Given the description of an element on the screen output the (x, y) to click on. 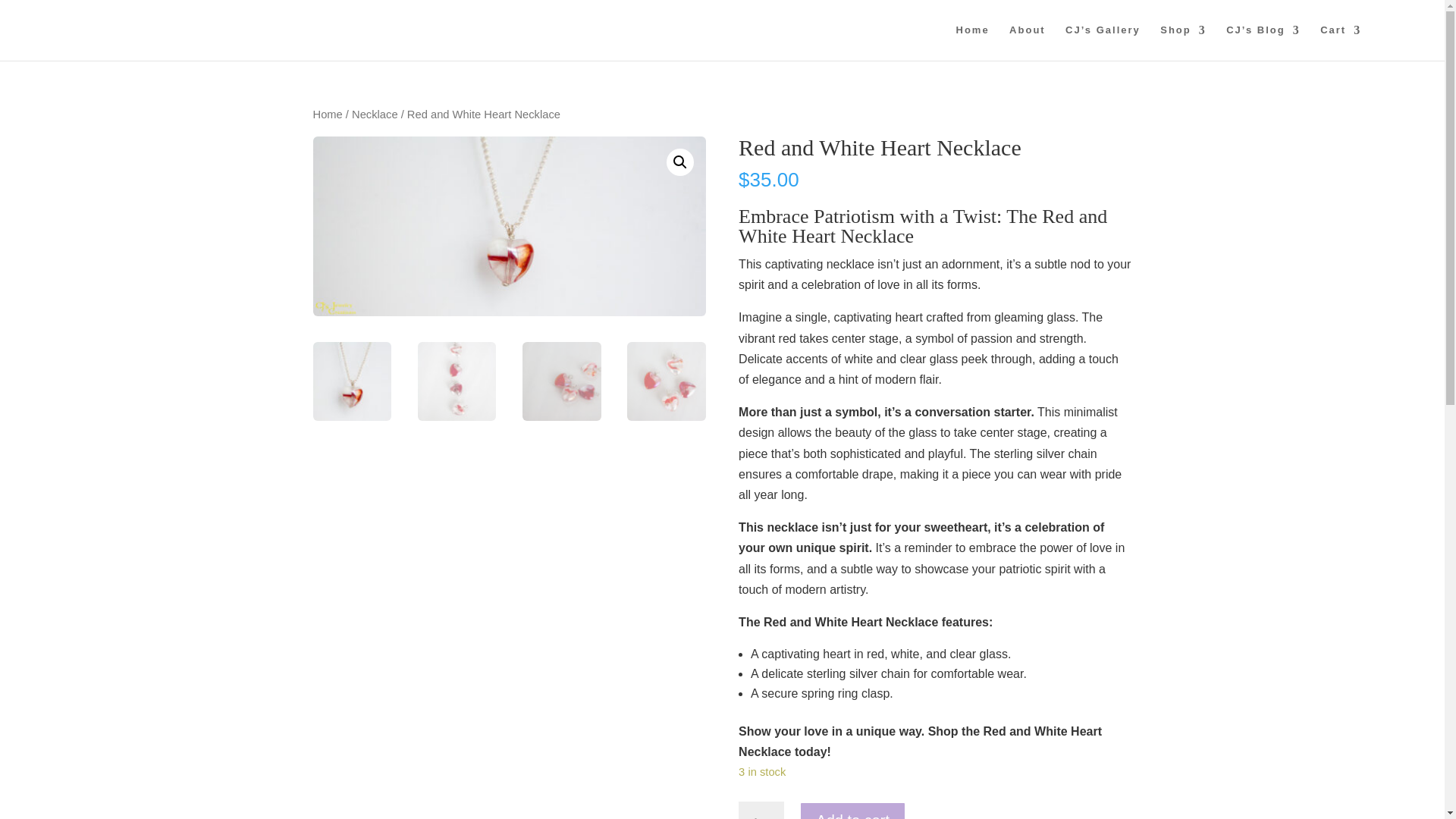
Cart (1340, 42)
Red and White Heart Necklace (508, 226)
Necklace (374, 114)
1 (761, 810)
Shop (1183, 42)
Home (327, 114)
Home (973, 42)
About (1027, 42)
